Given the description of an element on the screen output the (x, y) to click on. 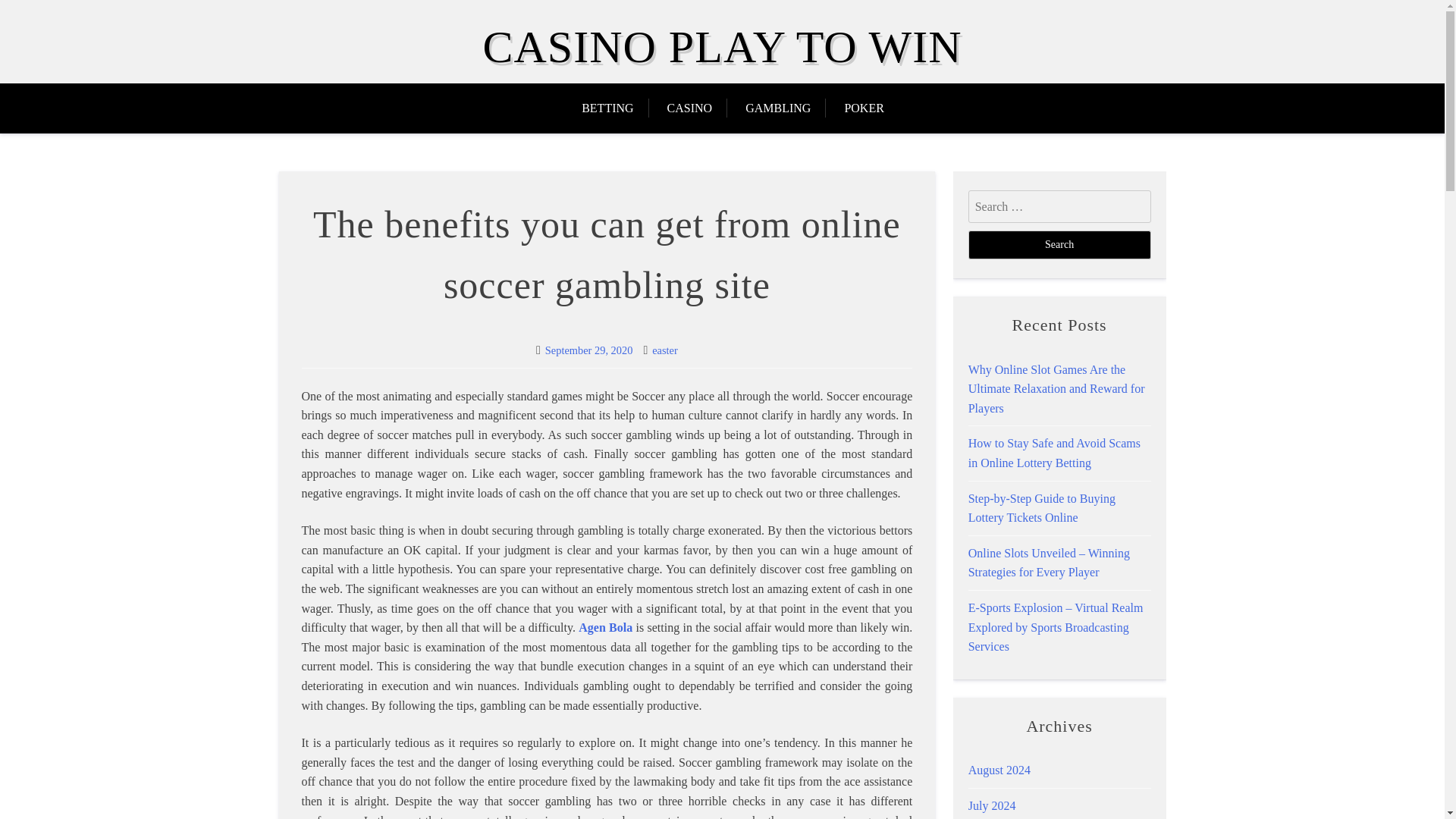
easter (665, 349)
Step-by-Step Guide to Buying Lottery Tickets Online (1041, 508)
July 2024 (992, 805)
CASINO PLAY TO WIN (720, 47)
Agen Bola (604, 626)
August 2024 (999, 769)
Search (1059, 244)
POKER (863, 108)
GAMBLING (777, 108)
